Given the description of an element on the screen output the (x, y) to click on. 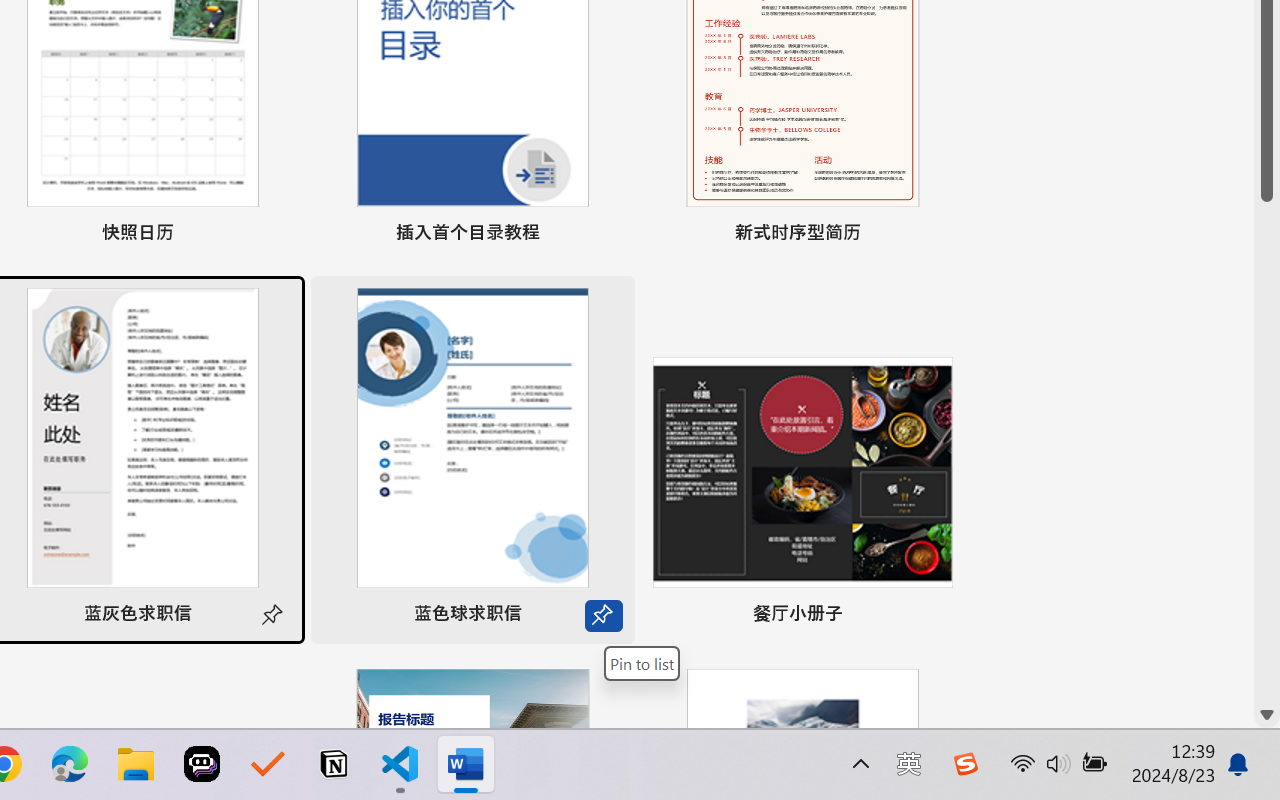
Line down (1267, 715)
Pin to list (641, 663)
Pin to list (934, 616)
Page down (1267, 451)
